Given the description of an element on the screen output the (x, y) to click on. 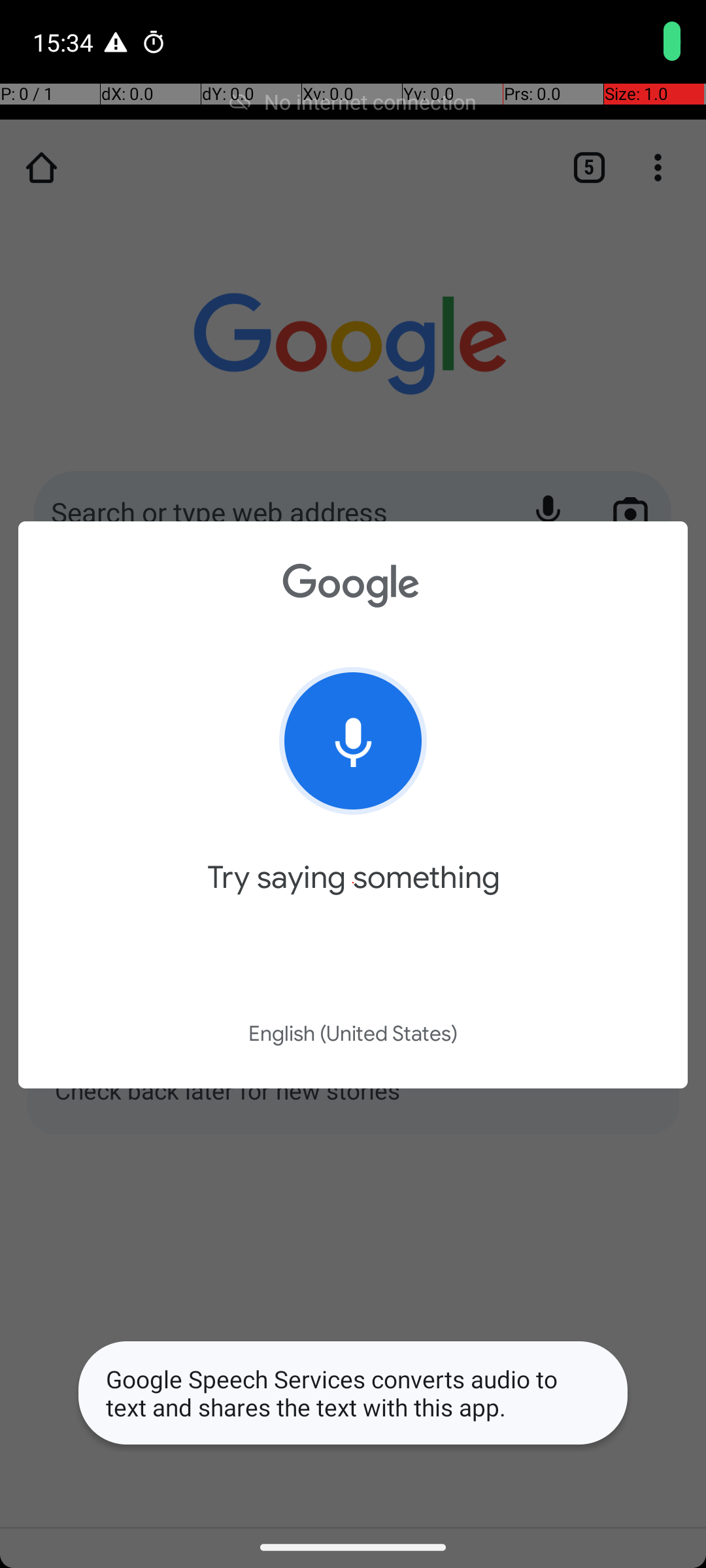
Applications are using your microphone. Element type: android.widget.FrameLayout (623, 41)
